Given the description of an element on the screen output the (x, y) to click on. 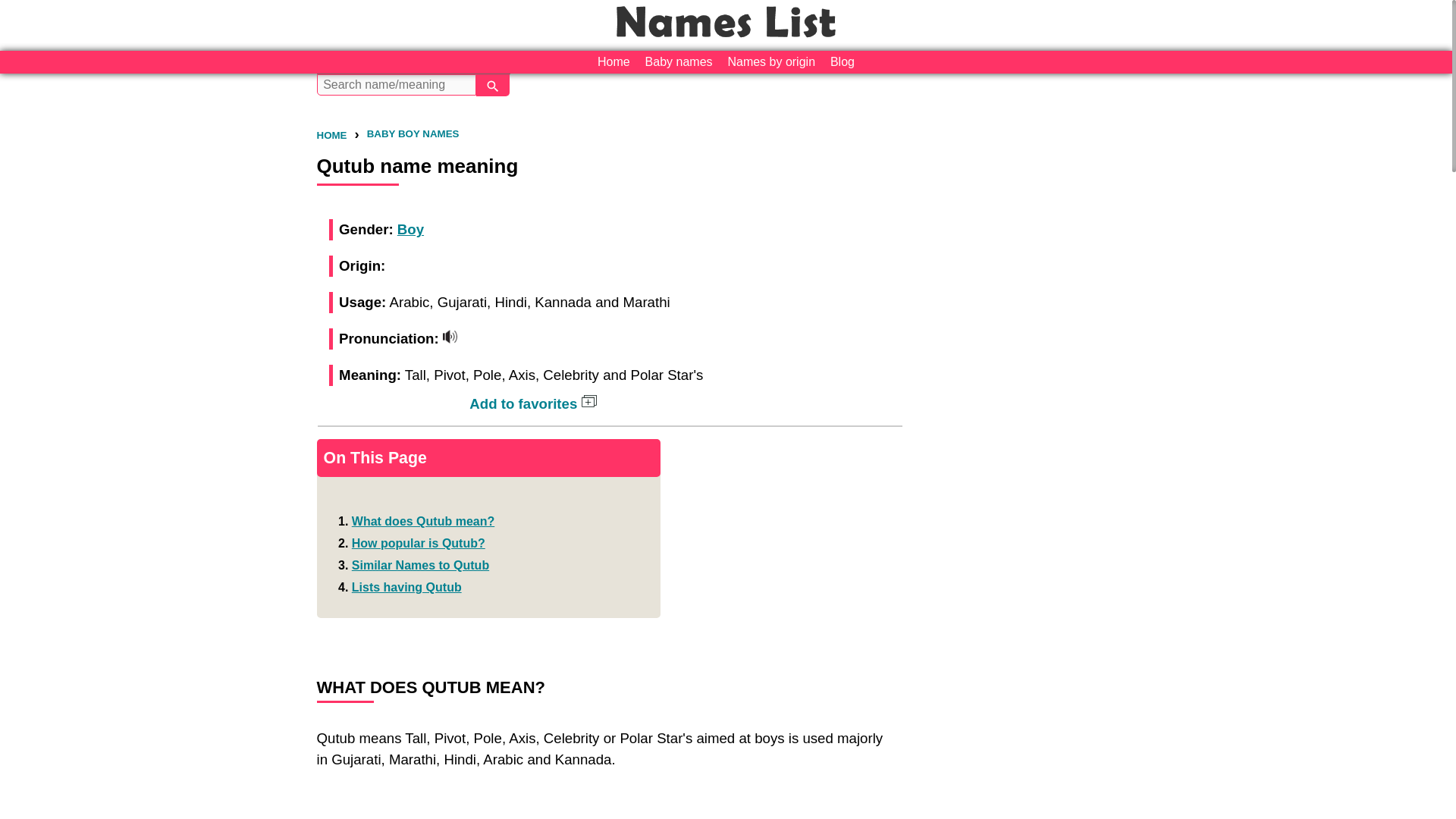
HOME (332, 134)
How popular is Qutub? (418, 543)
BABY BOY NAMES (413, 133)
Boy (410, 229)
Blog (842, 61)
Names by origin (770, 61)
What does Qutub mean? (423, 521)
Similar Names to Qutub (420, 564)
Lists having Qutub (406, 586)
Home (613, 61)
